Given the description of an element on the screen output the (x, y) to click on. 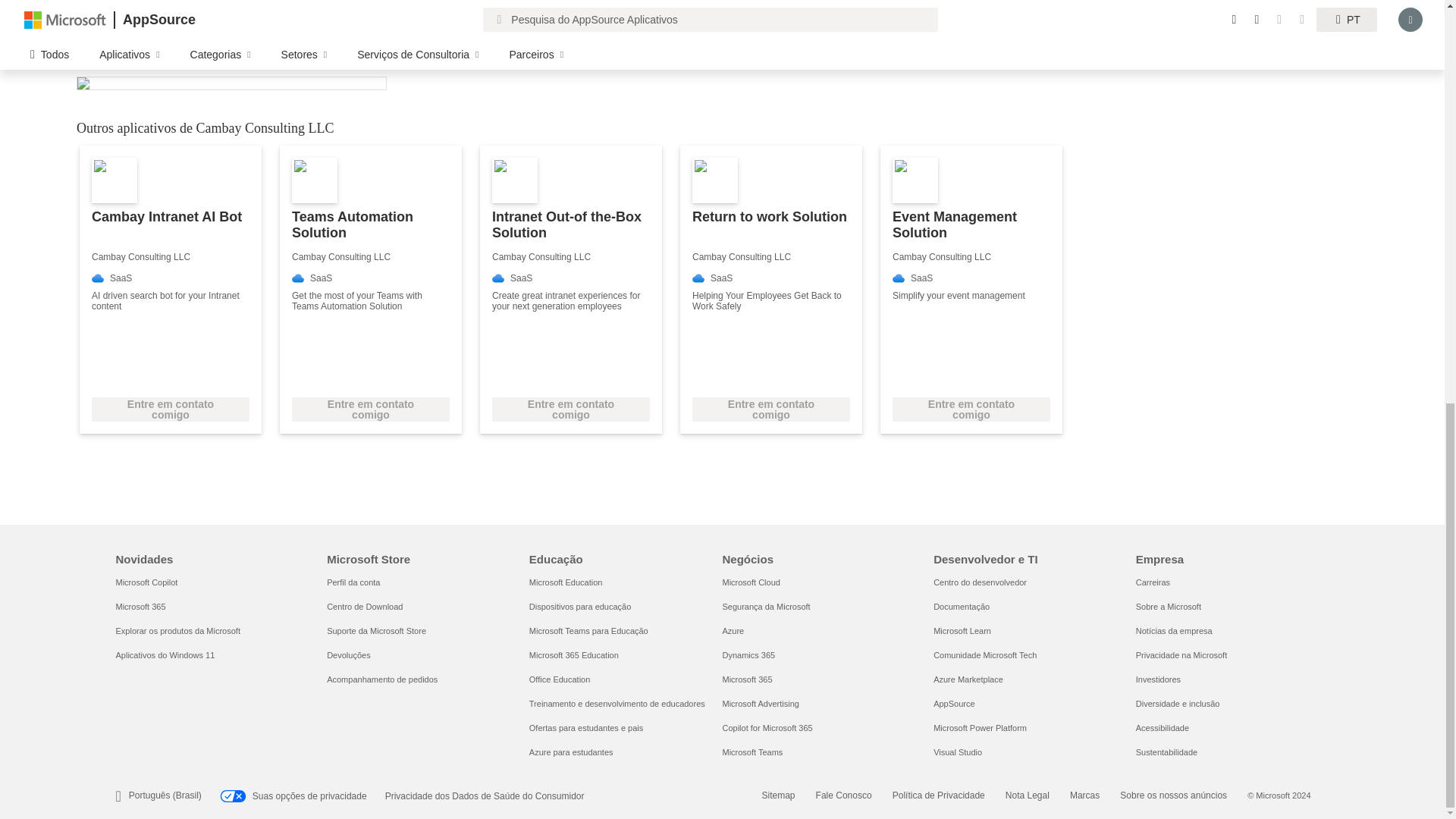
Entre em contato comigo (570, 409)
Centro de Download (364, 605)
Microsoft 365 (140, 605)
Entre em contato comigo (169, 409)
Entre em contato comigo (370, 409)
Explorar os produtos da Microsoft (177, 630)
Perfil da conta (353, 582)
Entre em contato comigo (970, 409)
Microsoft Copilot (146, 582)
Aplicativos do Windows 11 (164, 655)
